Given the description of an element on the screen output the (x, y) to click on. 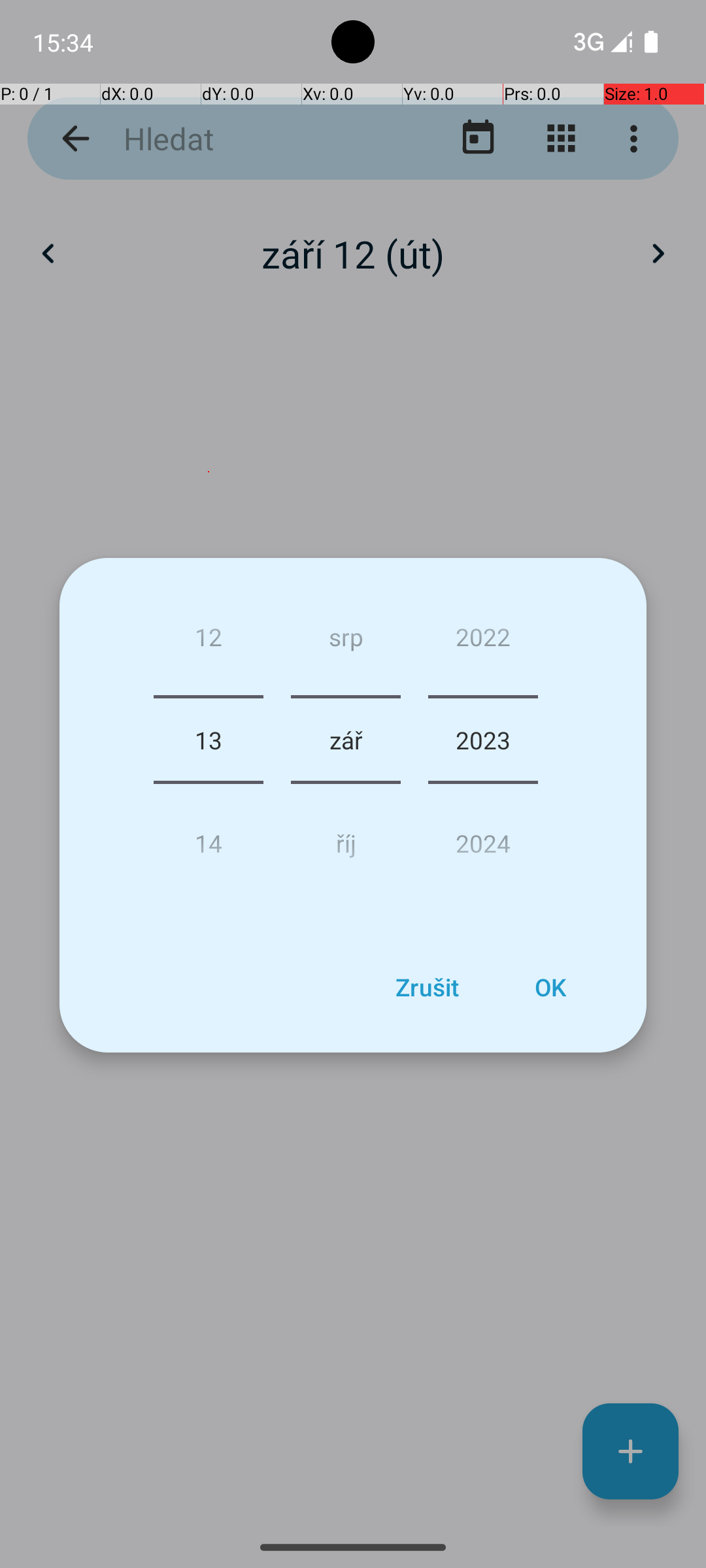
Zrušit Element type: android.widget.Button (426, 987)
srp Element type: android.widget.Button (345, 641)
zář Element type: android.widget.EditText (345, 739)
říj Element type: android.widget.Button (345, 837)
